Given the description of an element on the screen output the (x, y) to click on. 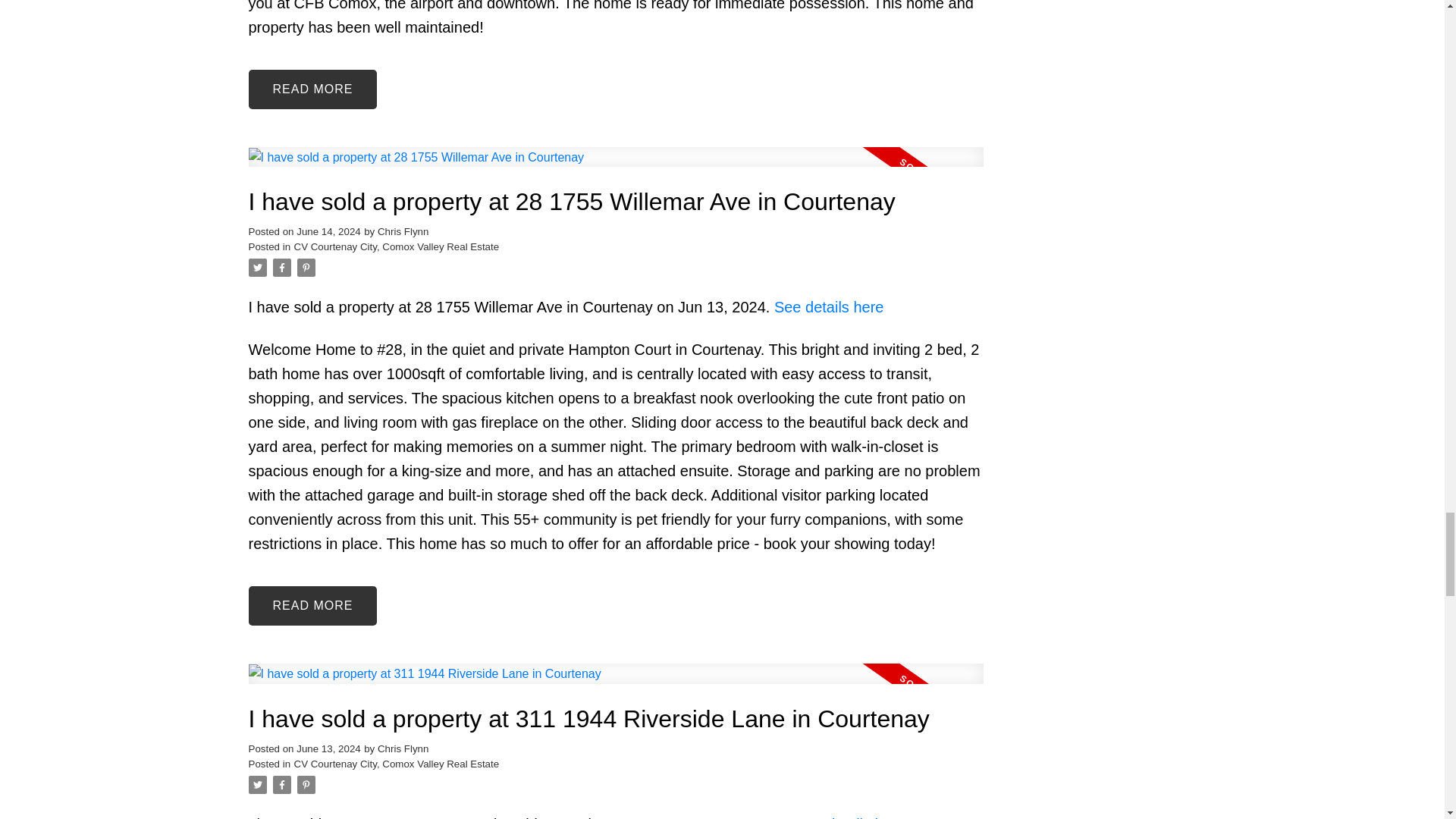
Read full post (616, 166)
Read full post (616, 682)
